Given the description of an element on the screen output the (x, y) to click on. 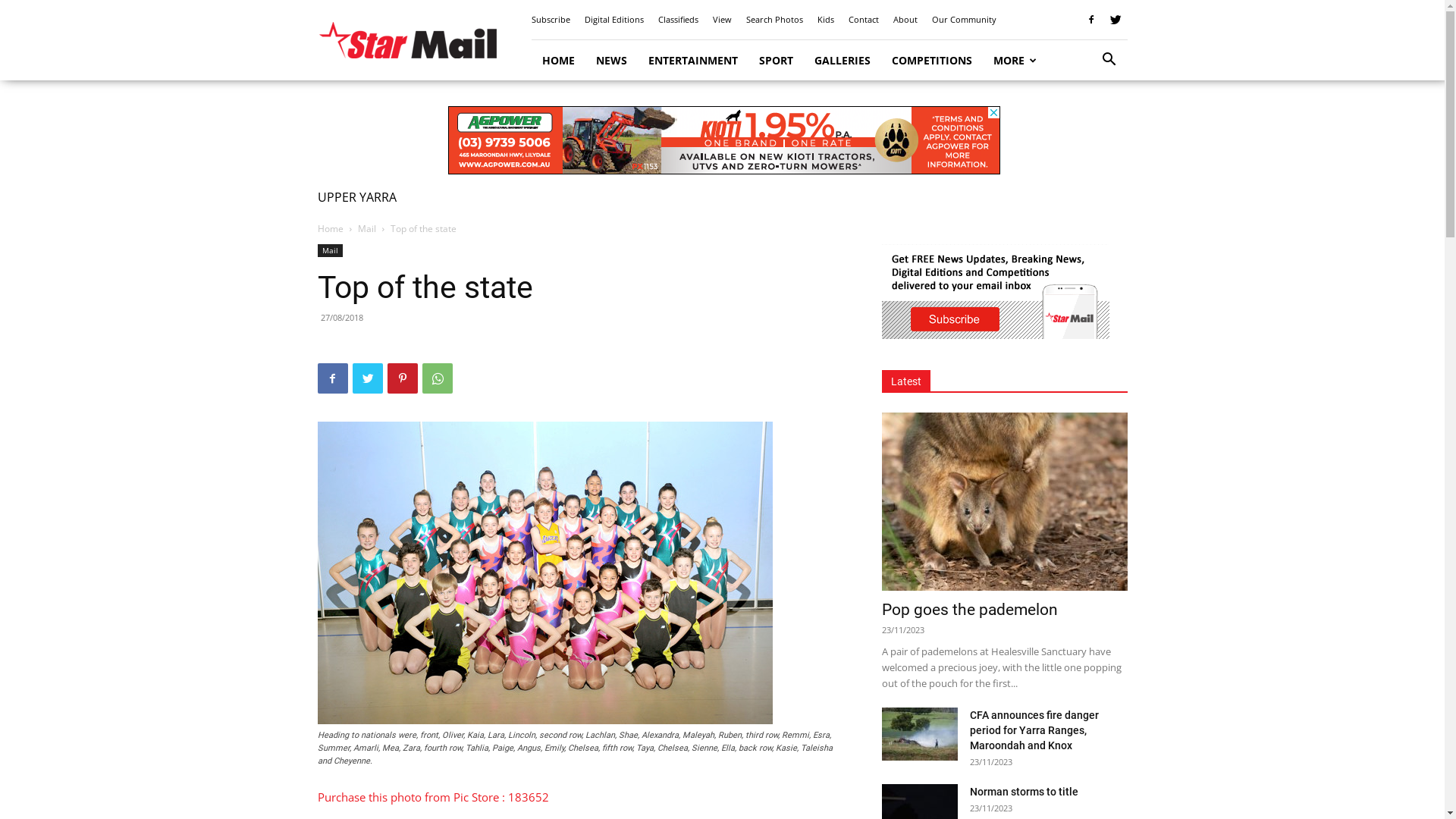
Twitter Element type: hover (366, 378)
Search Element type: text (1085, 122)
ENTERTAINMENT Element type: text (692, 60)
Purchase this photo from Pic Store : 183652 Element type: text (432, 796)
HOME Element type: text (557, 60)
Our Community Element type: text (963, 19)
MORE Element type: text (1015, 60)
Pop goes the pademelon Element type: text (969, 609)
Pinterest Element type: hover (401, 378)
Mail Element type: text (366, 228)
Twitter Element type: hover (1115, 19)
Subscribe Element type: text (549, 19)
Mail Element type: text (329, 250)
Classifieds Element type: text (678, 19)
About Element type: text (905, 19)
Pop goes the pademelon Element type: hover (1003, 501)
Facebook Element type: hover (331, 378)
LAUNCHPRIM_183652_06.JPG Element type: hover (543, 572)
Norman storms to title Element type: text (1023, 791)
Kids Element type: text (825, 19)
NEWS Element type: text (611, 60)
SPORT Element type: text (775, 60)
Facebook Element type: hover (1090, 19)
View Element type: text (721, 19)
COMPETITIONS Element type: text (931, 60)
GALLERIES Element type: text (842, 60)
Digital Editions Element type: text (613, 19)
3rd party ad content Element type: hover (723, 140)
Home Element type: text (329, 228)
Search Photos Element type: text (774, 19)
WhatsApp Element type: hover (436, 378)
Contact Element type: text (862, 19)
